Given the description of an element on the screen output the (x, y) to click on. 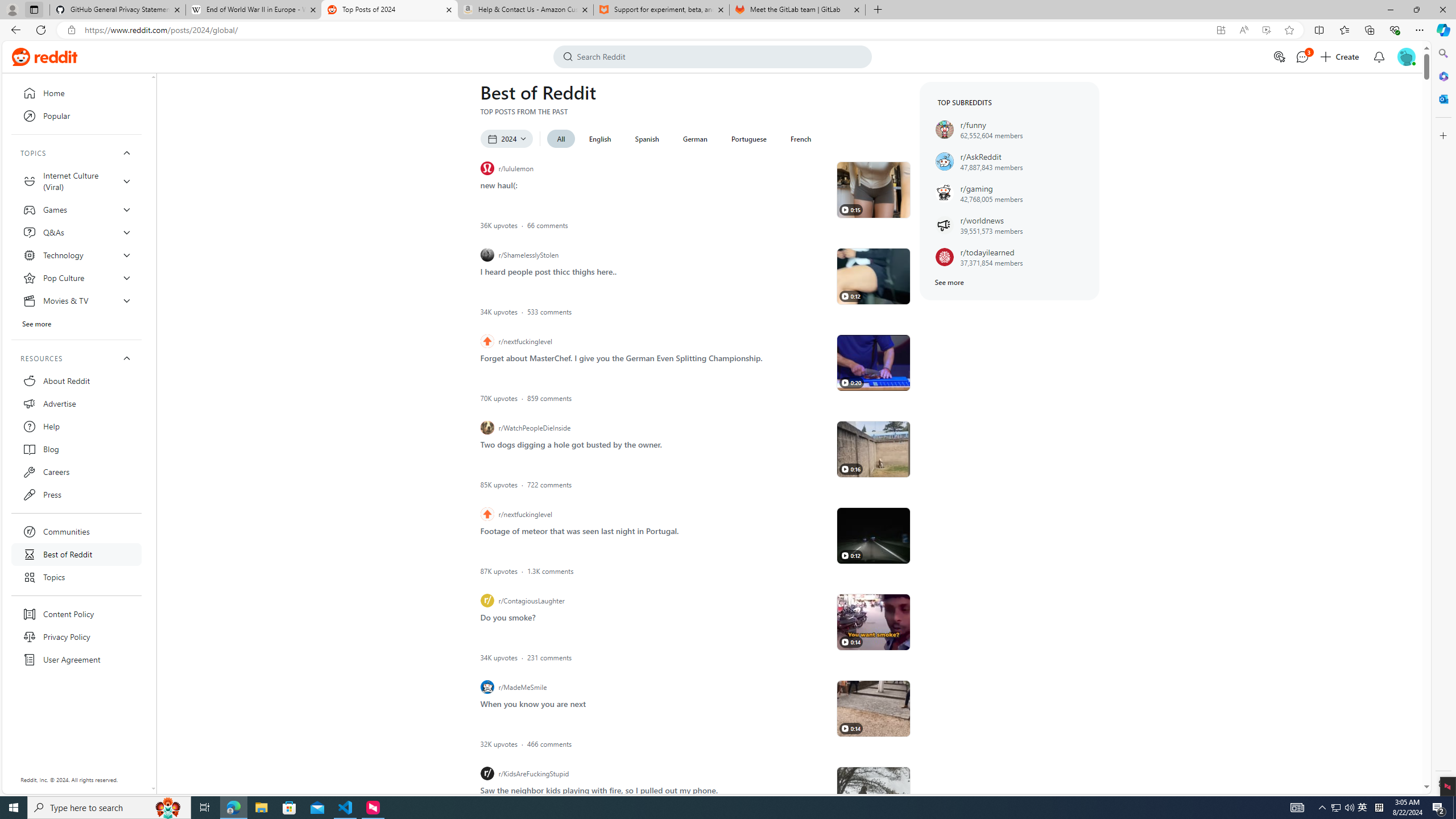
r/lululemon - new haul(:  (873, 189)
List item post - Do you smoke? (507, 616)
r/worldnews icon (943, 225)
RESOURCES (76, 358)
r/MadeMeSmile - When you know you are next (873, 708)
Advertise on Reddit (1279, 56)
r/WatchPeopleDieInside (654, 427)
r/MadeMeSmile (654, 686)
r/AskReddit 47,887,843 members (1009, 161)
r/ShamelesslyStolen (654, 254)
Blog (76, 449)
Spanish (646, 138)
